Given the description of an element on the screen output the (x, y) to click on. 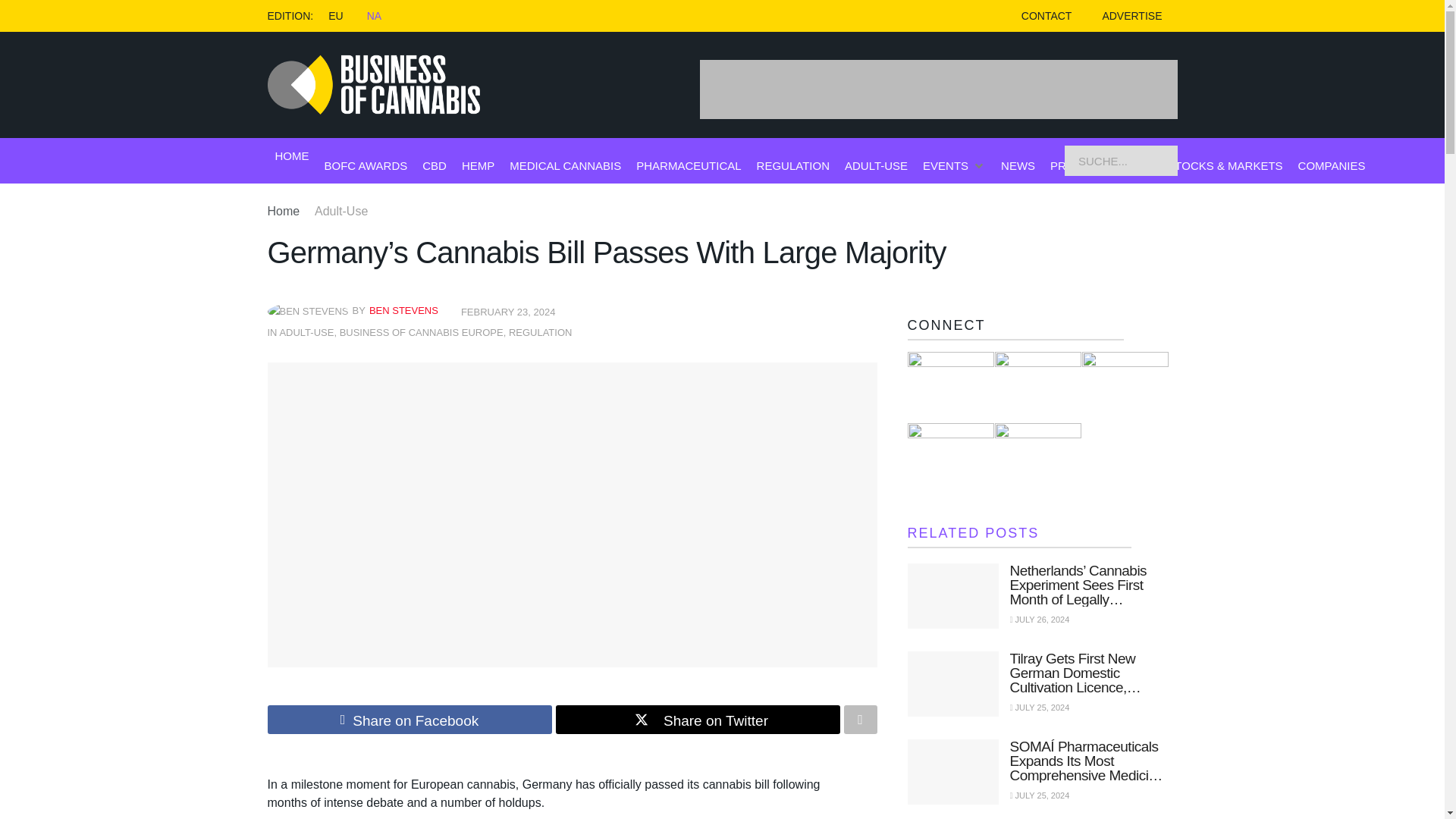
ADULT-USE (875, 165)
ADULT-USE (306, 332)
COMPANIES (1331, 165)
REGULATION (540, 332)
Home (282, 210)
BUSINESS OF CANNABIS EUROPE (421, 332)
BEN STEVENS (403, 310)
Adult-Use (341, 210)
HEMP (478, 165)
EVENTS (945, 165)
CBD (434, 165)
PHARMACEUTICAL (688, 165)
FEBRUARY 23, 2024 (508, 311)
CONTACT (1046, 15)
EU (335, 15)
